Given the description of an element on the screen output the (x, y) to click on. 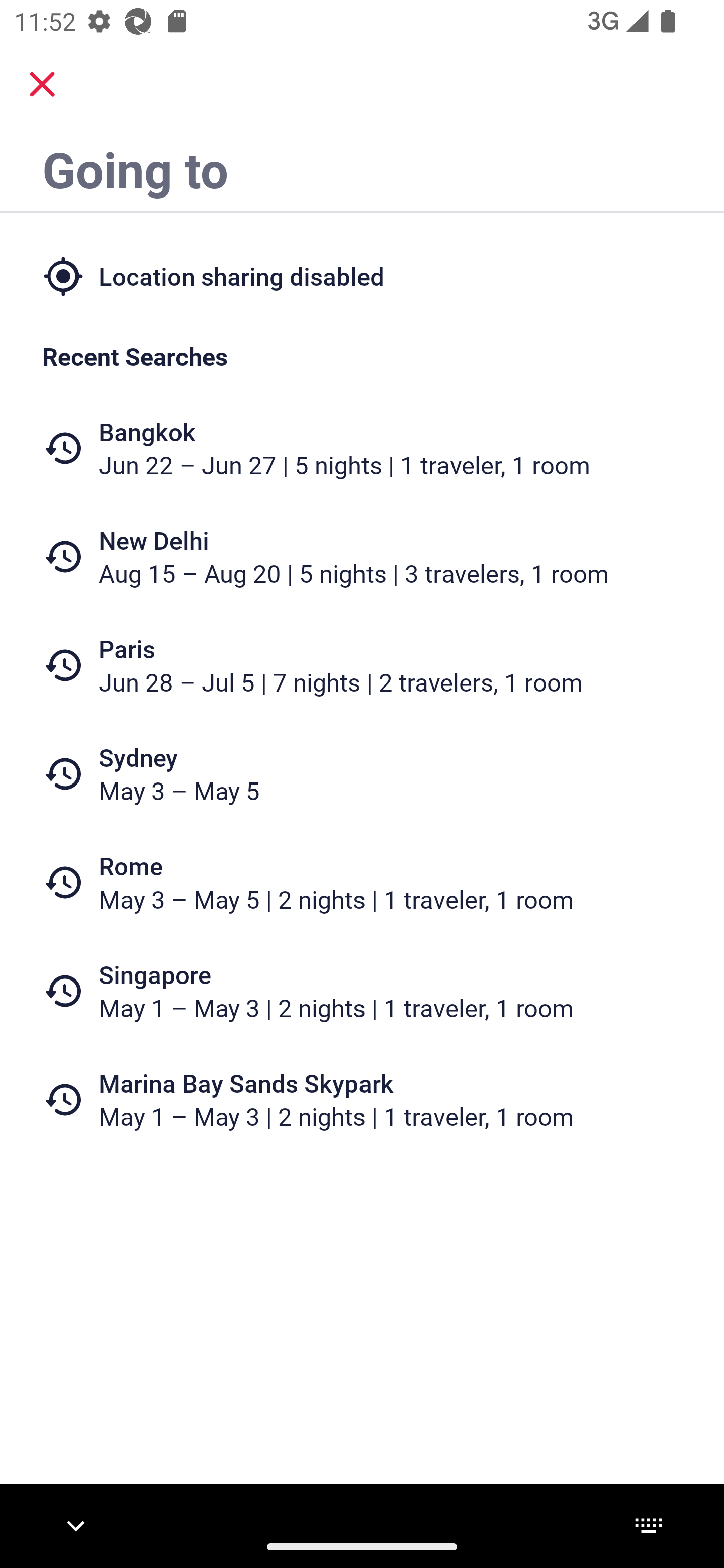
close. (42, 84)
Location sharing disabled (362, 275)
Sydney May 3 – May 5 (362, 773)
Rome May 3 – May 5 | 2 nights | 1 traveler, 1 room (362, 881)
